Given the description of an element on the screen output the (x, y) to click on. 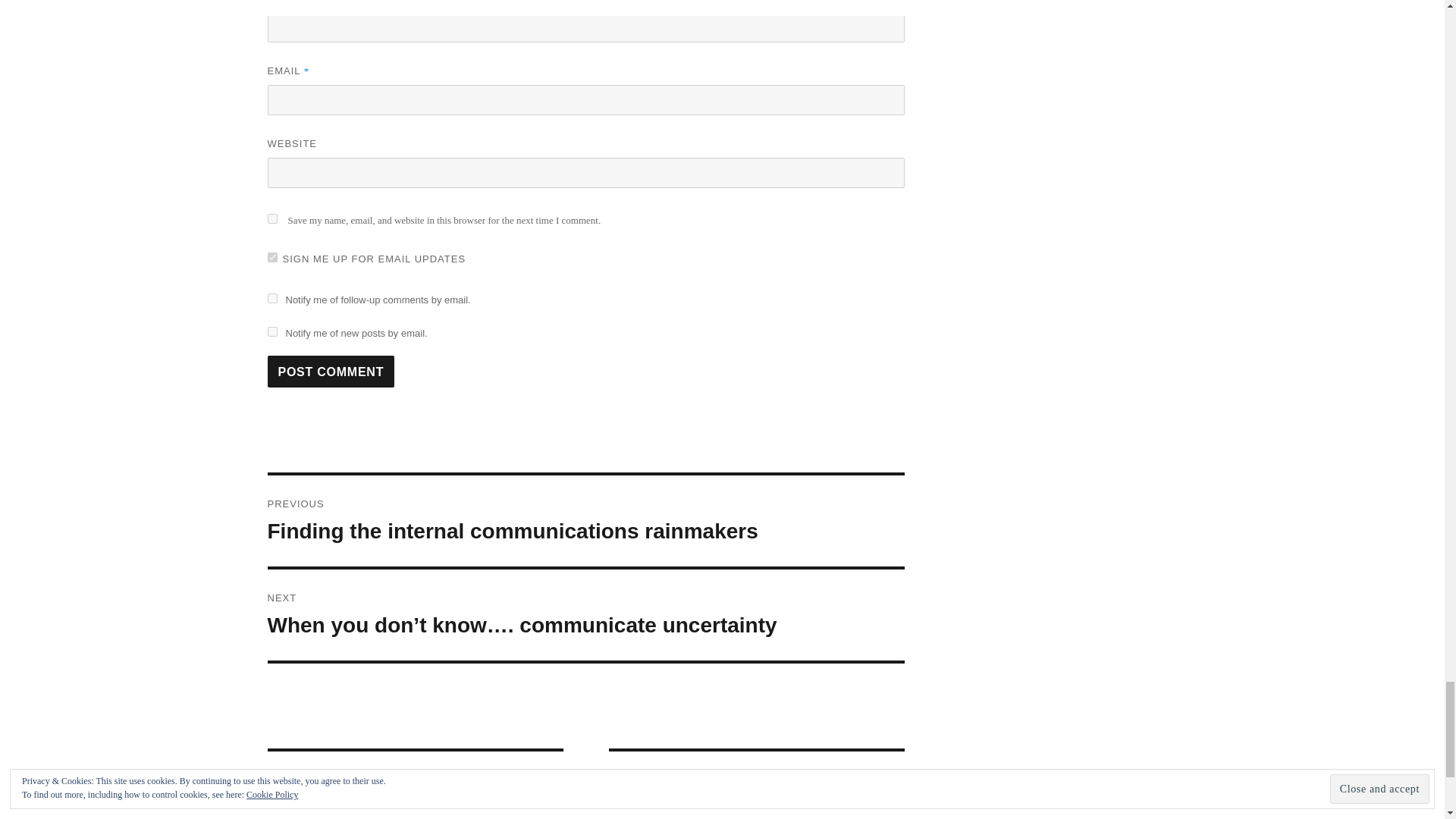
1 (271, 257)
subscribe (271, 298)
subscribe (271, 331)
Post Comment (330, 371)
yes (271, 218)
